Given the description of an element on the screen output the (x, y) to click on. 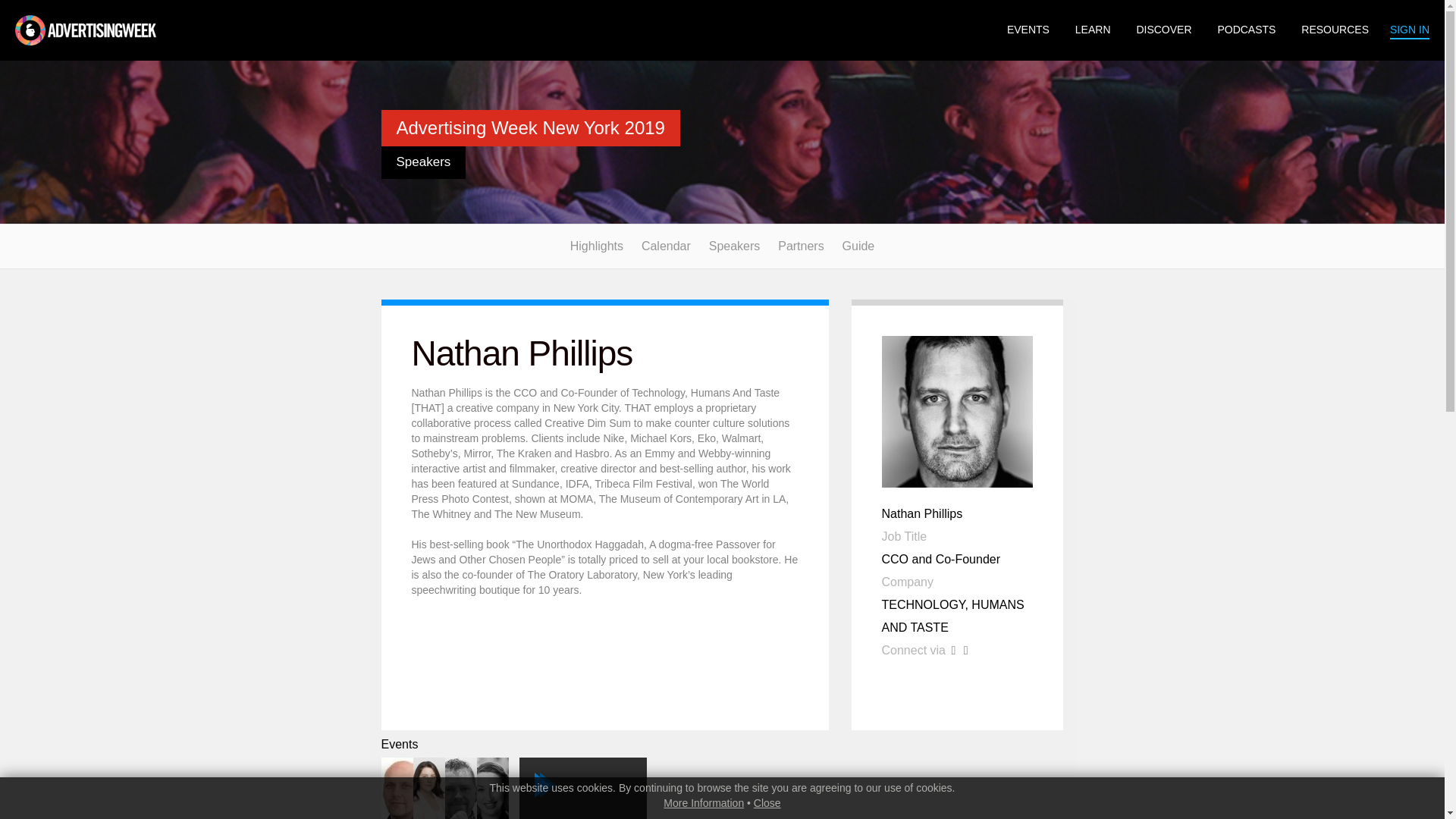
Highlights Calendar Speakers Partners Guide (722, 246)
Calendar (666, 246)
SIGN IN (1409, 30)
PODCASTS (1246, 30)
LEARN (1092, 30)
Advertising Week New York 2019 (529, 127)
Close (582, 788)
Highlights (767, 802)
Speakers (596, 246)
Guide (734, 246)
RESOURCES (859, 246)
Partners (1334, 30)
EVENTS (800, 246)
More Information (1028, 30)
